Given the description of an element on the screen output the (x, y) to click on. 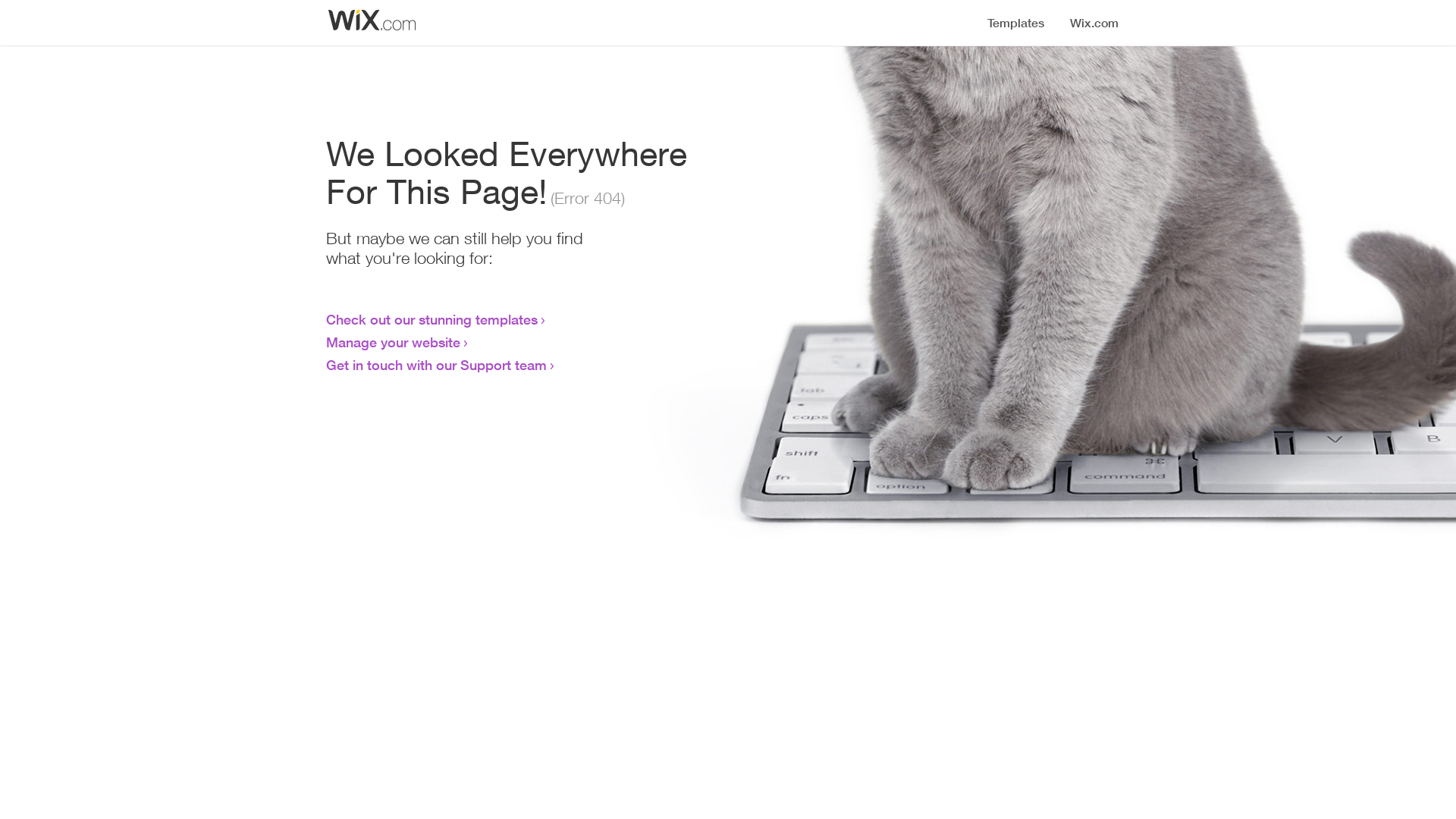
Check out our stunning templates Element type: text (431, 318)
Manage your website Element type: text (393, 341)
Get in touch with our Support team Element type: text (436, 364)
